Given the description of an element on the screen output the (x, y) to click on. 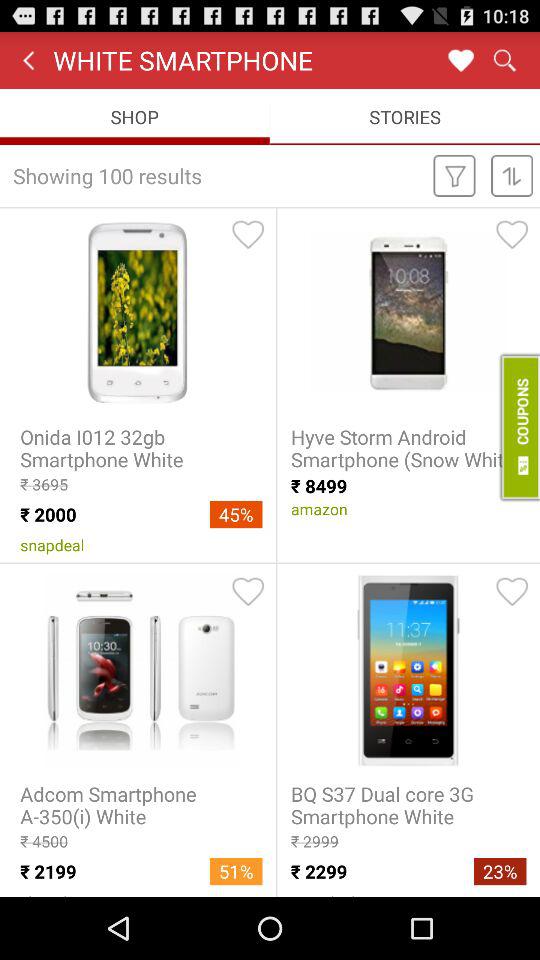
click on backward symbol which is on the left side of the white smartphone (28, 59)
click of the heart symbol which is top right side of hyve storm android smartphone (511, 235)
select the second column second image (408, 669)
click on the filter button which is first below stories (454, 175)
